Given the description of an element on the screen output the (x, y) to click on. 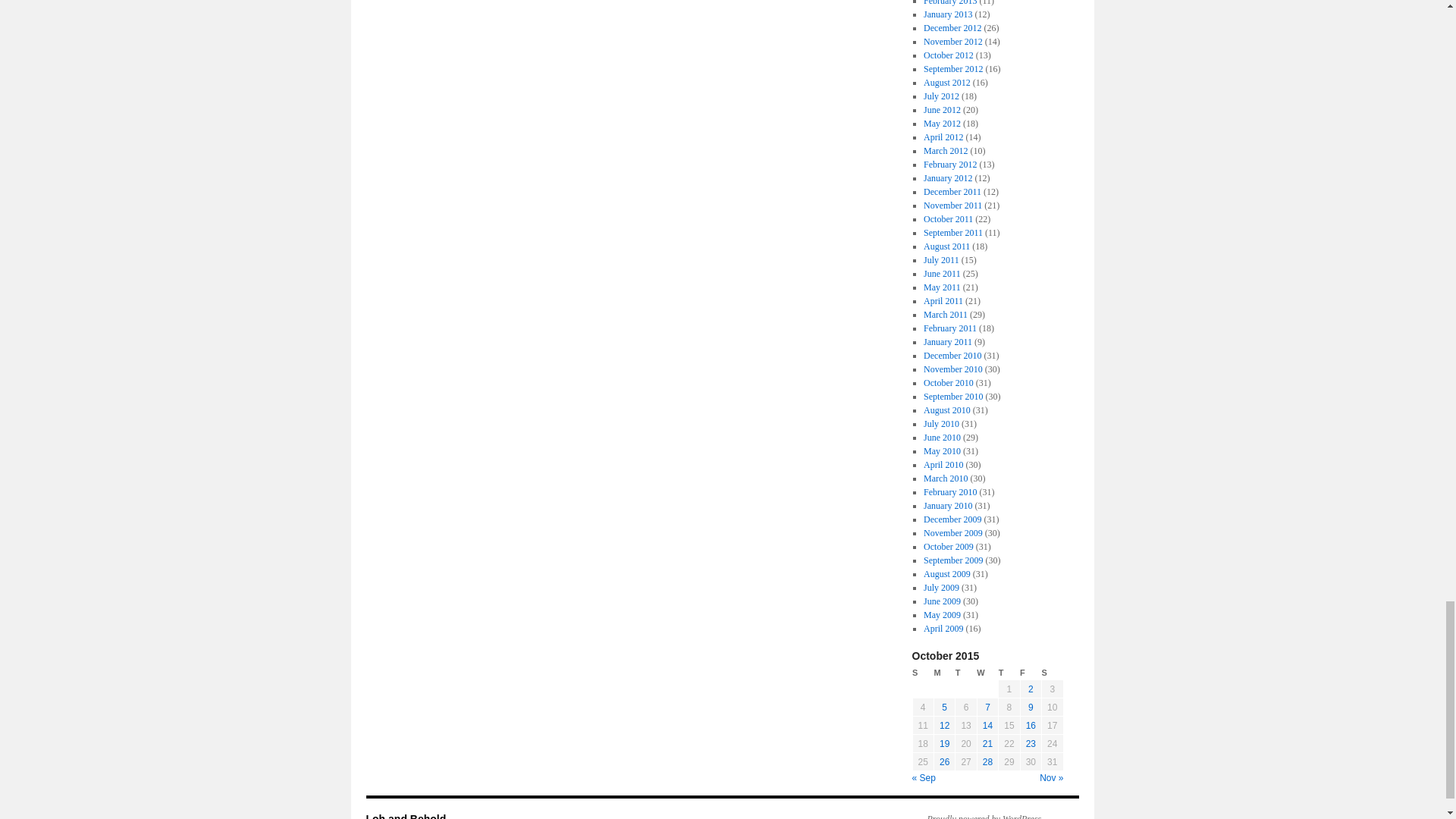
Saturday (1052, 672)
Thursday (1009, 672)
Friday (1030, 672)
Sunday (922, 672)
Wednesday (986, 672)
Monday (944, 672)
Tuesday (965, 672)
